Given the description of an element on the screen output the (x, y) to click on. 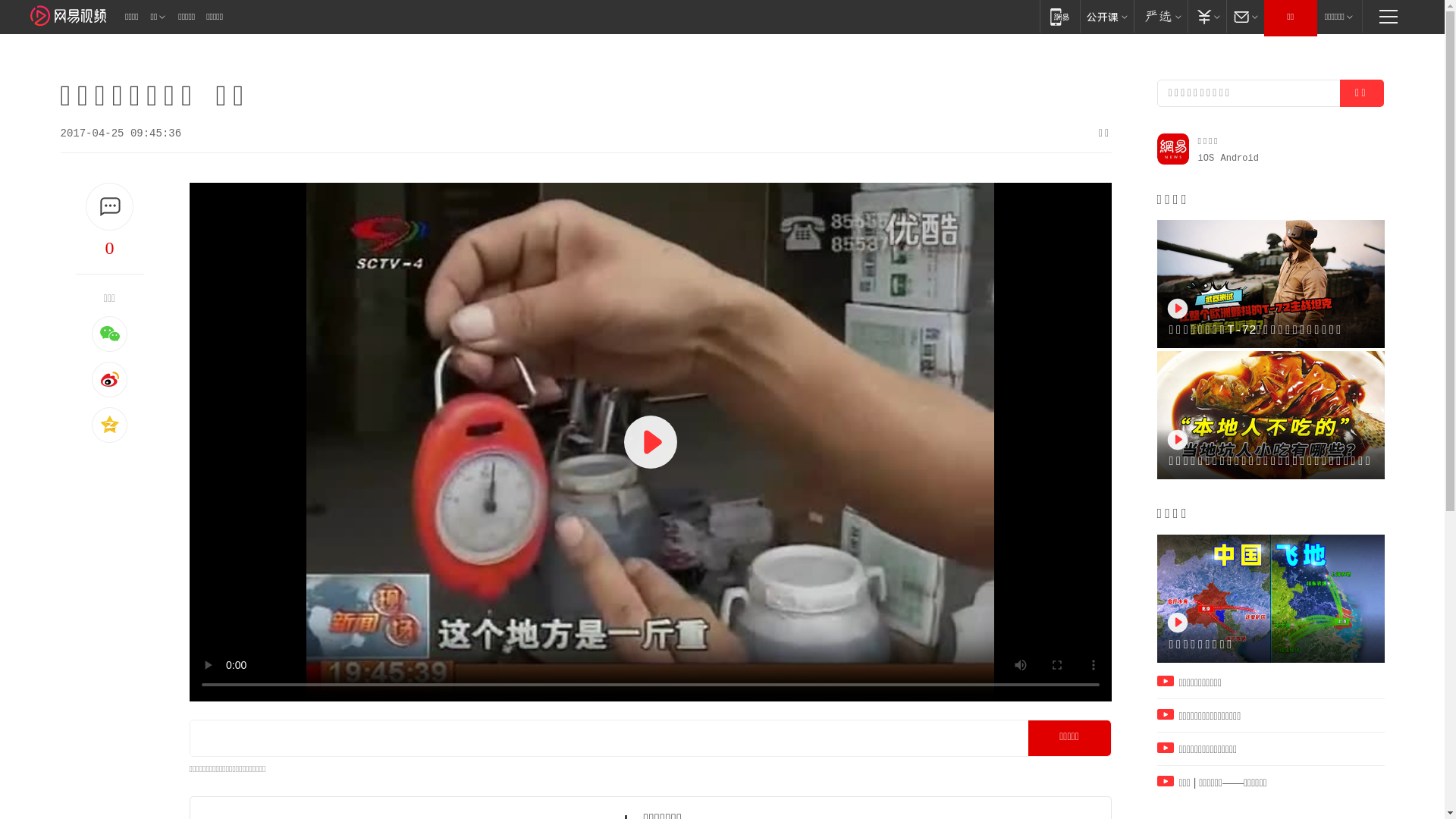
iOS Element type: text (1206, 158)
0 Element type: text (109, 247)
Android Element type: text (1239, 158)
